Given the description of an element on the screen output the (x, y) to click on. 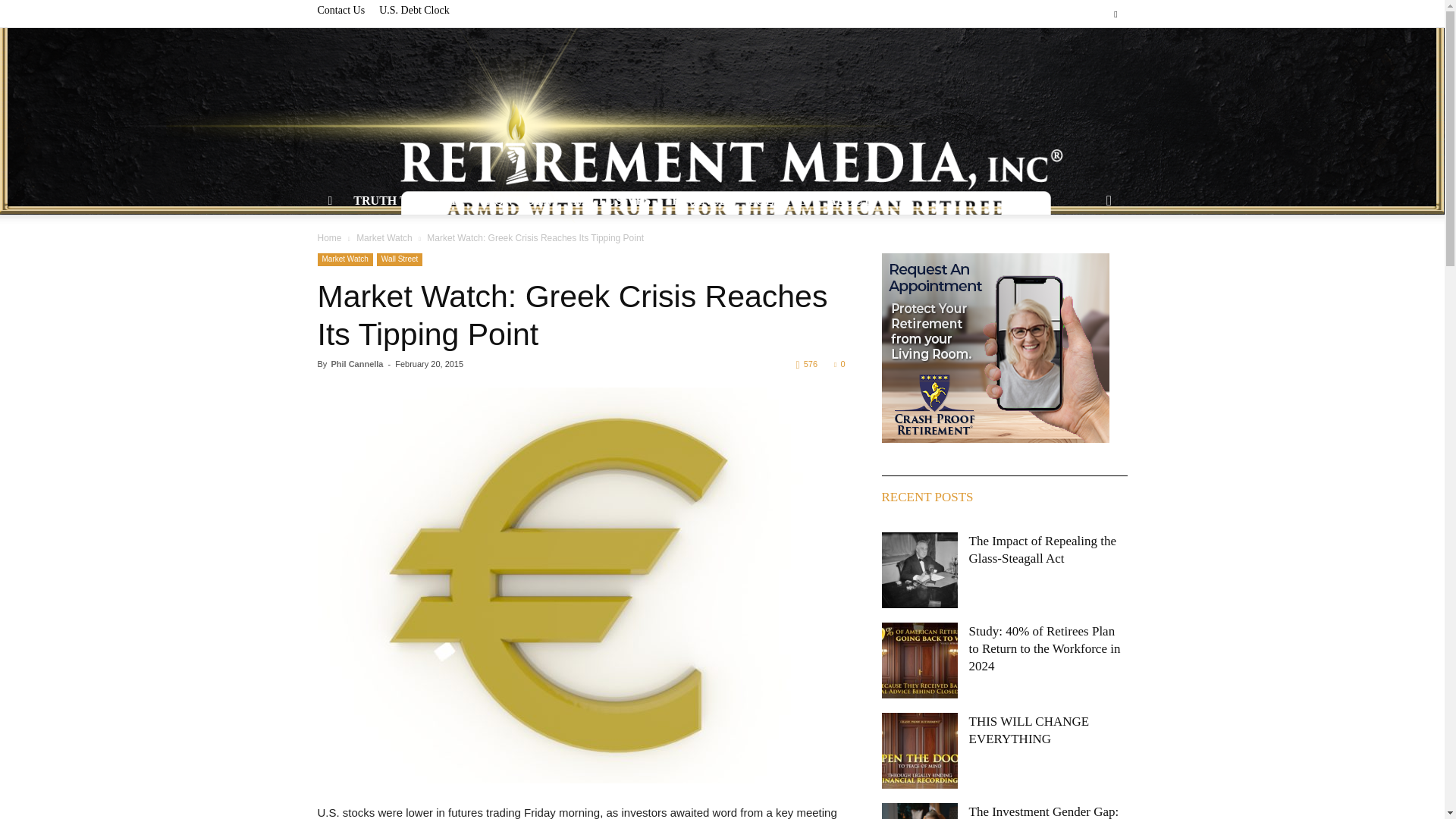
Search (1085, 256)
0 (839, 363)
ABOUT (855, 200)
EXCLUSIVES (611, 200)
Market Watch (384, 237)
View all posts in Market Watch (384, 237)
Phil Cannella (356, 363)
Home (328, 237)
FINANCE (699, 200)
Contact Us (341, 9)
TRUTH TRACKER (406, 200)
Market Watch (344, 259)
The Impact of Repealing the Glass-Steagall Act (918, 570)
POLITICS (777, 200)
Wall Street (400, 259)
